Given the description of an element on the screen output the (x, y) to click on. 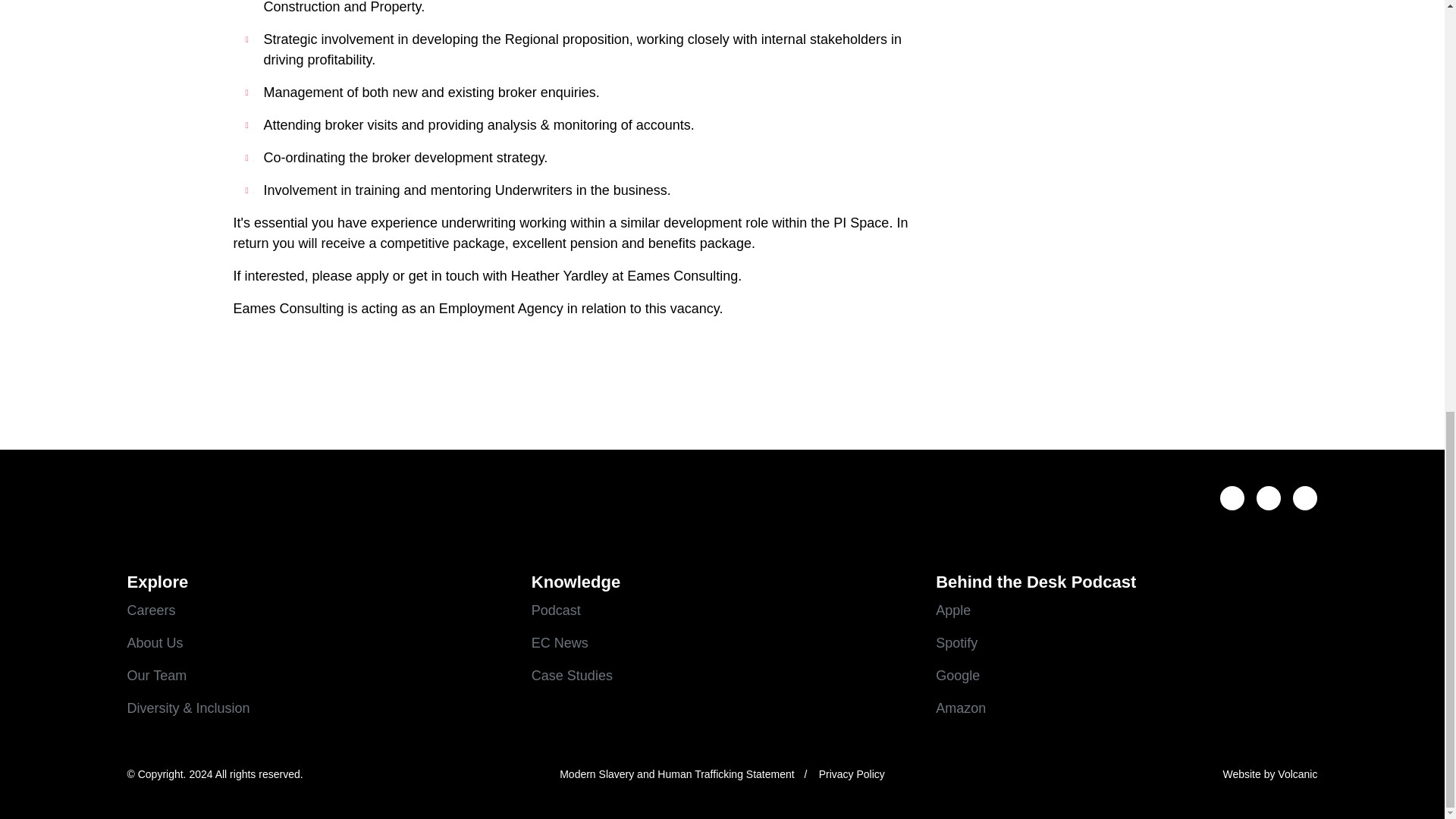
EC News (721, 643)
Apple (1126, 610)
Case Studies (721, 675)
Google (1126, 675)
Amazon (1126, 708)
Podcast (721, 610)
About Us (318, 643)
Careers (318, 610)
Our Team (318, 675)
Spotify (1126, 643)
